Given the description of an element on the screen output the (x, y) to click on. 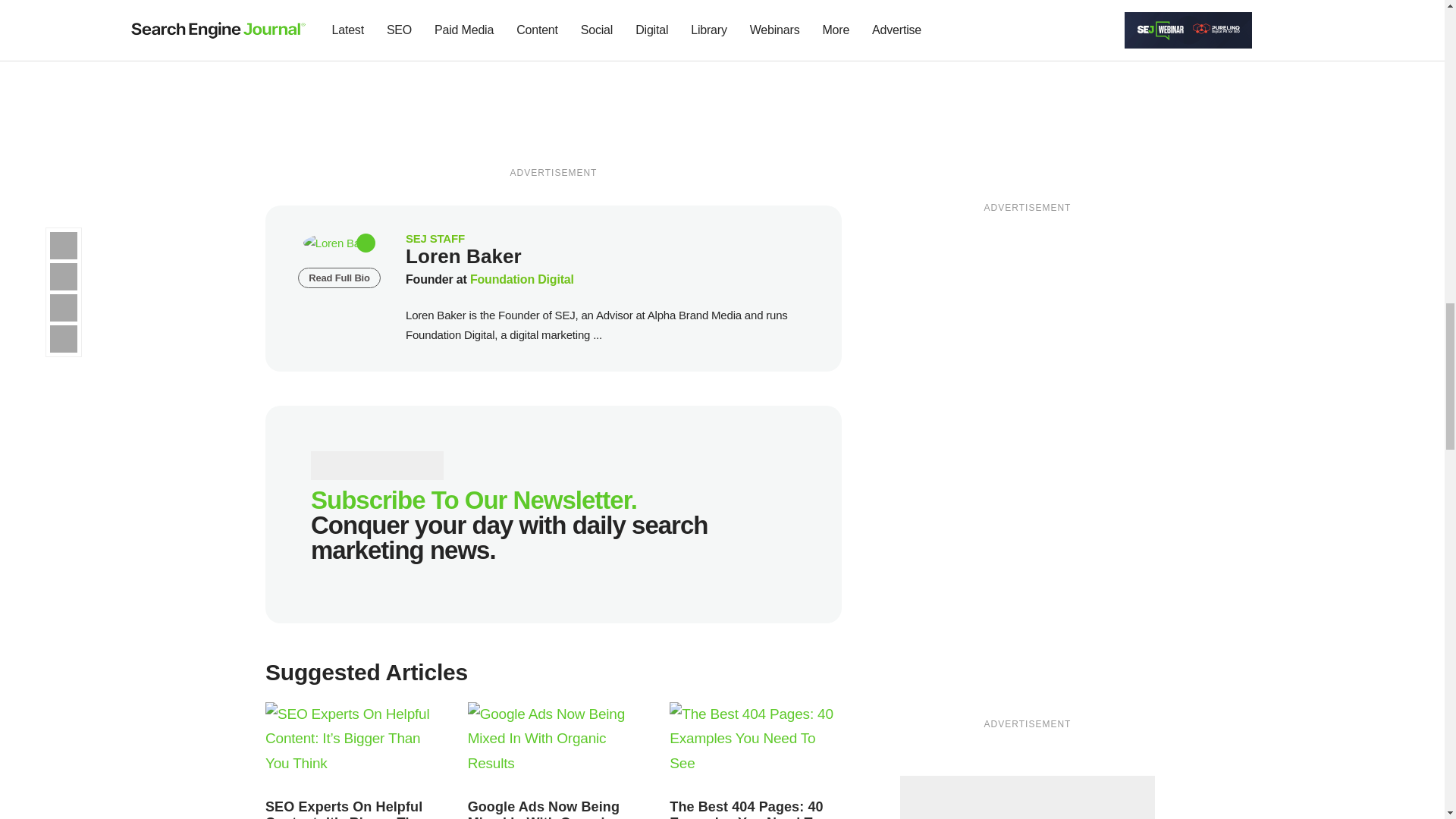
Read the Article (755, 746)
Read the Article (553, 746)
Read the Article (346, 809)
Read the Article (543, 809)
Read the Article (351, 746)
Read the Article (745, 809)
